Given the description of an element on the screen output the (x, y) to click on. 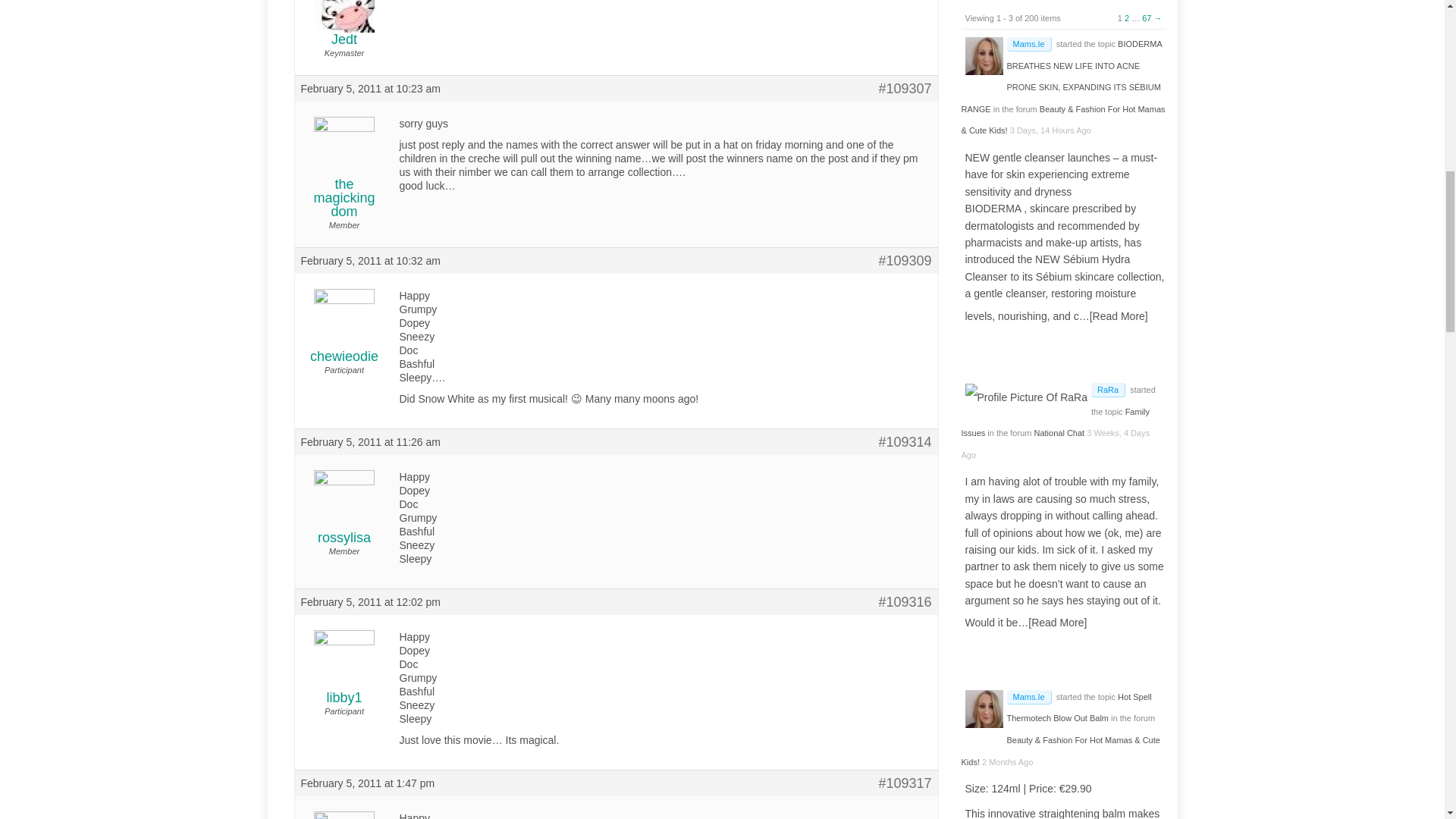
View libby1's profile (343, 675)
View the magickingdom's profile (343, 176)
View Jedt's profile (343, 22)
View chewieodie's profile (343, 334)
View rossylisa's profile (343, 515)
